Given the description of an element on the screen output the (x, y) to click on. 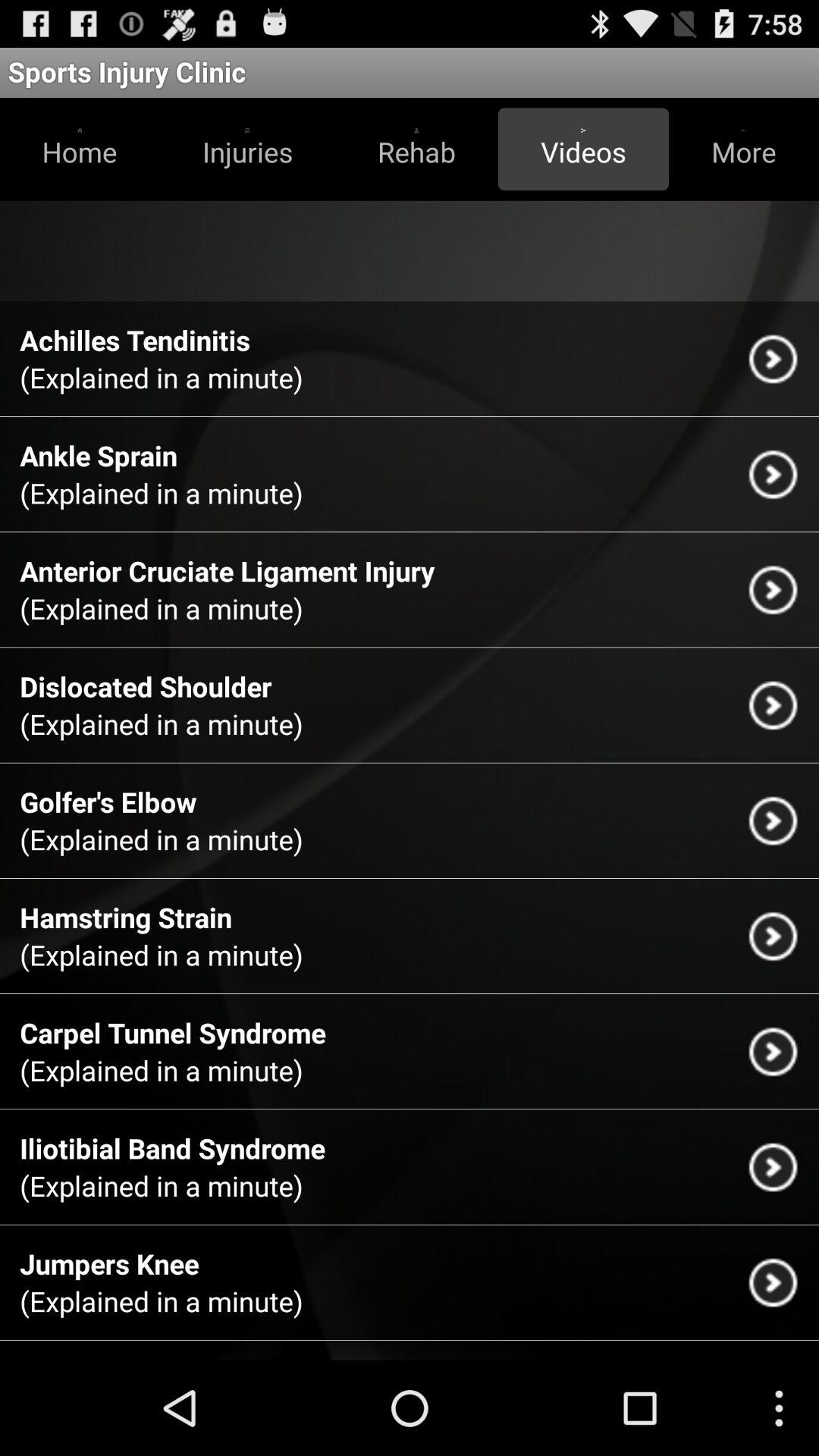
turn on the icon above explained in a (109, 1263)
